Given the description of an element on the screen output the (x, y) to click on. 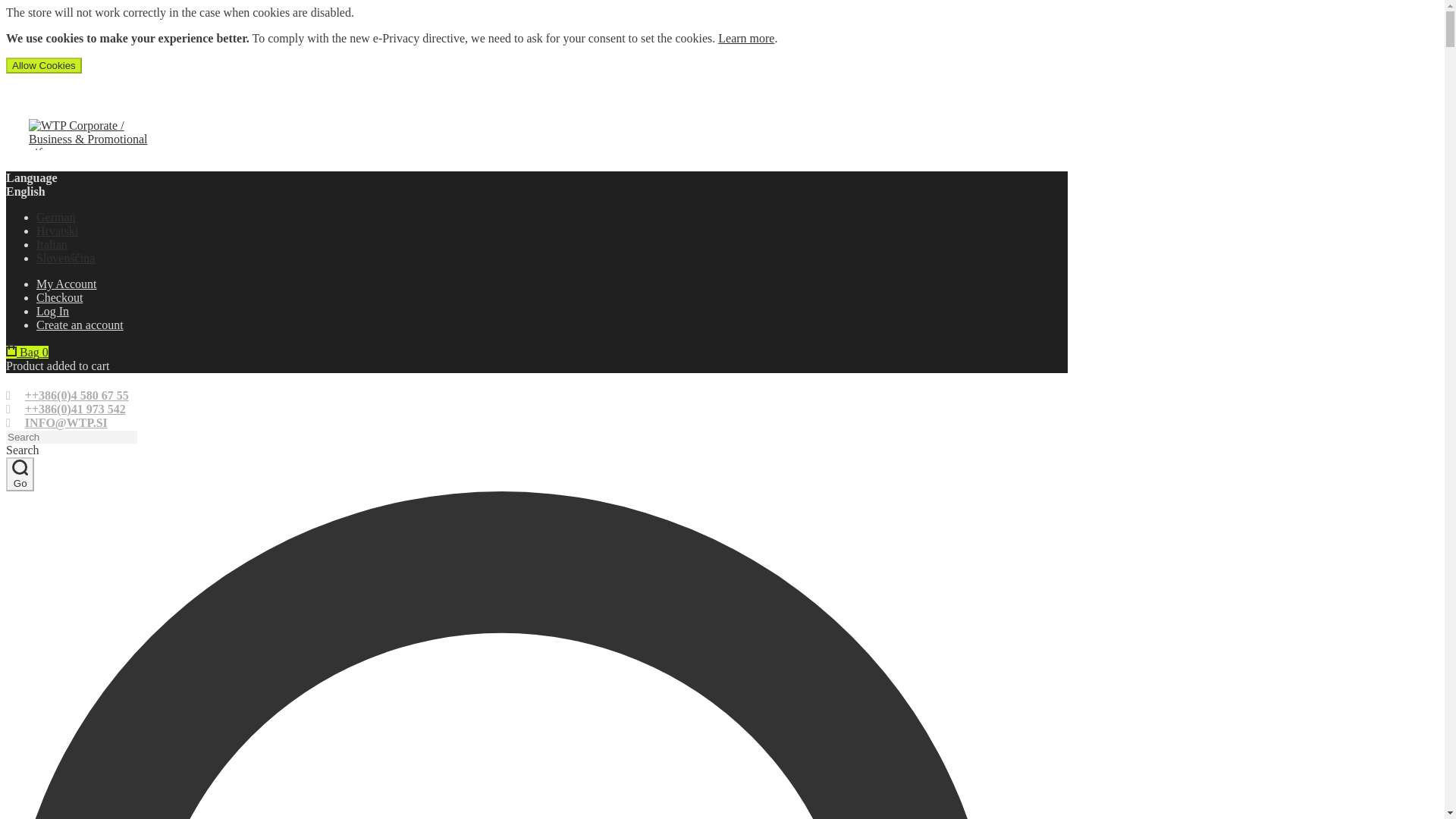
Go (19, 474)
Create an account (551, 325)
Allow Cookies (43, 65)
Bag 0 (26, 351)
Italian (51, 244)
My Account (66, 283)
German (55, 216)
Log In (551, 311)
Checkout (59, 297)
Hrvatski (57, 230)
Learn more (745, 38)
Go (19, 474)
